Given the description of an element on the screen output the (x, y) to click on. 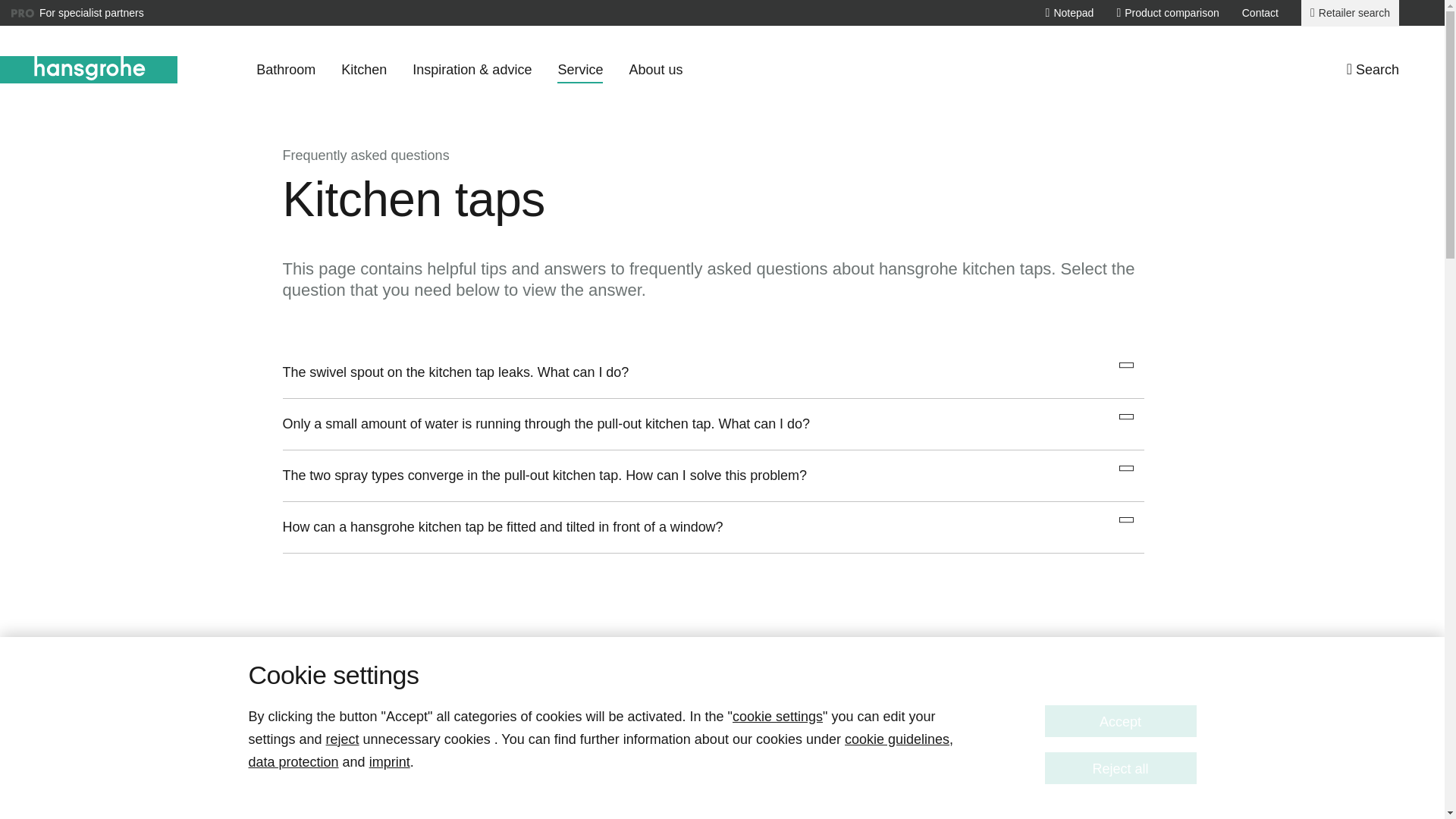
About us (655, 69)
Contact (1259, 12)
Kitchen (363, 69)
Service (579, 69)
Retailer search (1350, 13)
Notepad (1069, 12)
For specialist partners (77, 13)
hansgrohe bathroom taps, shower heads and kitchen taps (88, 69)
Bathroom (285, 69)
Product comparison (1167, 12)
